Given the description of an element on the screen output the (x, y) to click on. 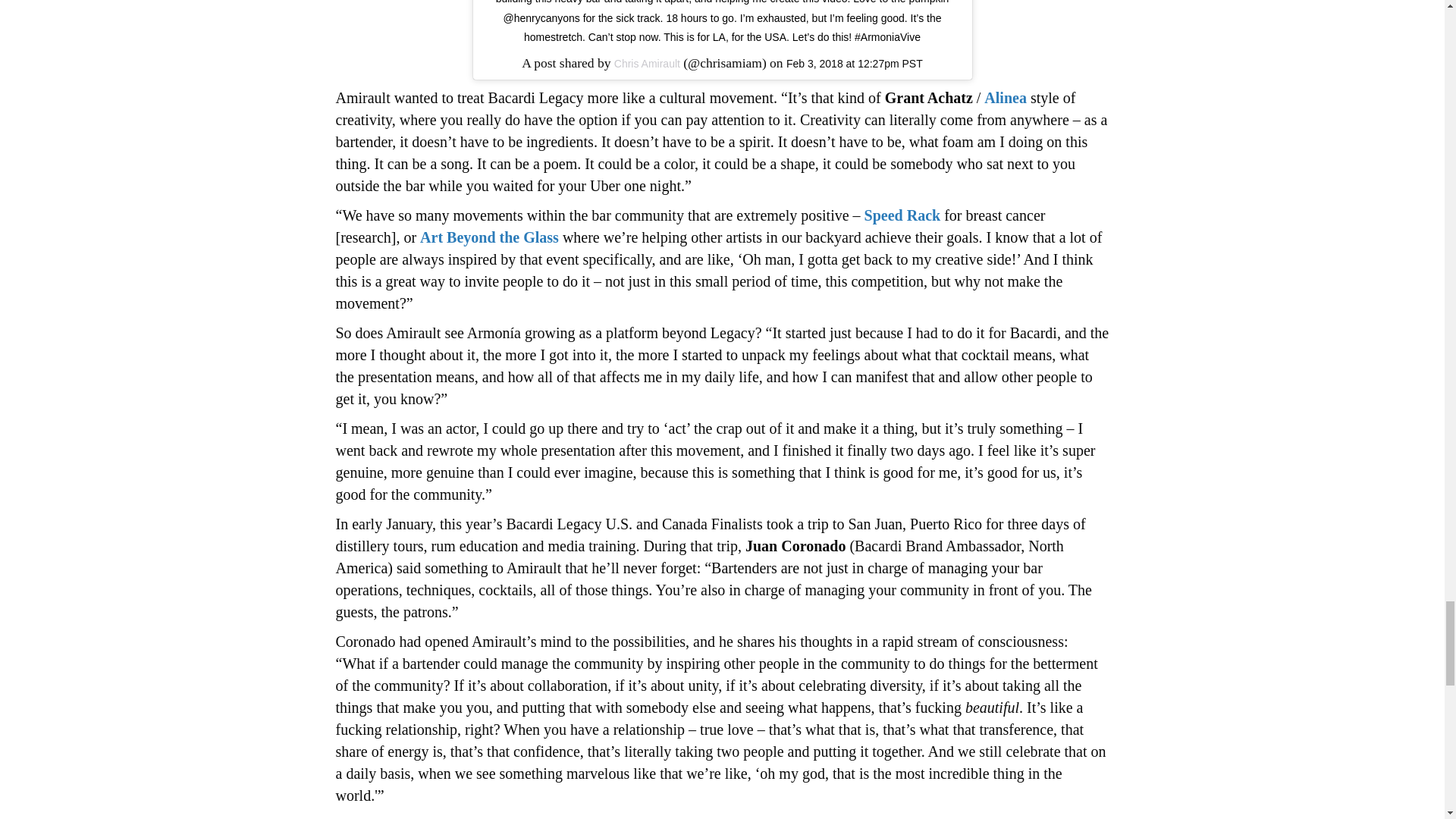
Art Beyond the Glass (489, 237)
Alinea (1005, 97)
Speed Rack (902, 215)
Chris Amirault (646, 63)
